Given the description of an element on the screen output the (x, y) to click on. 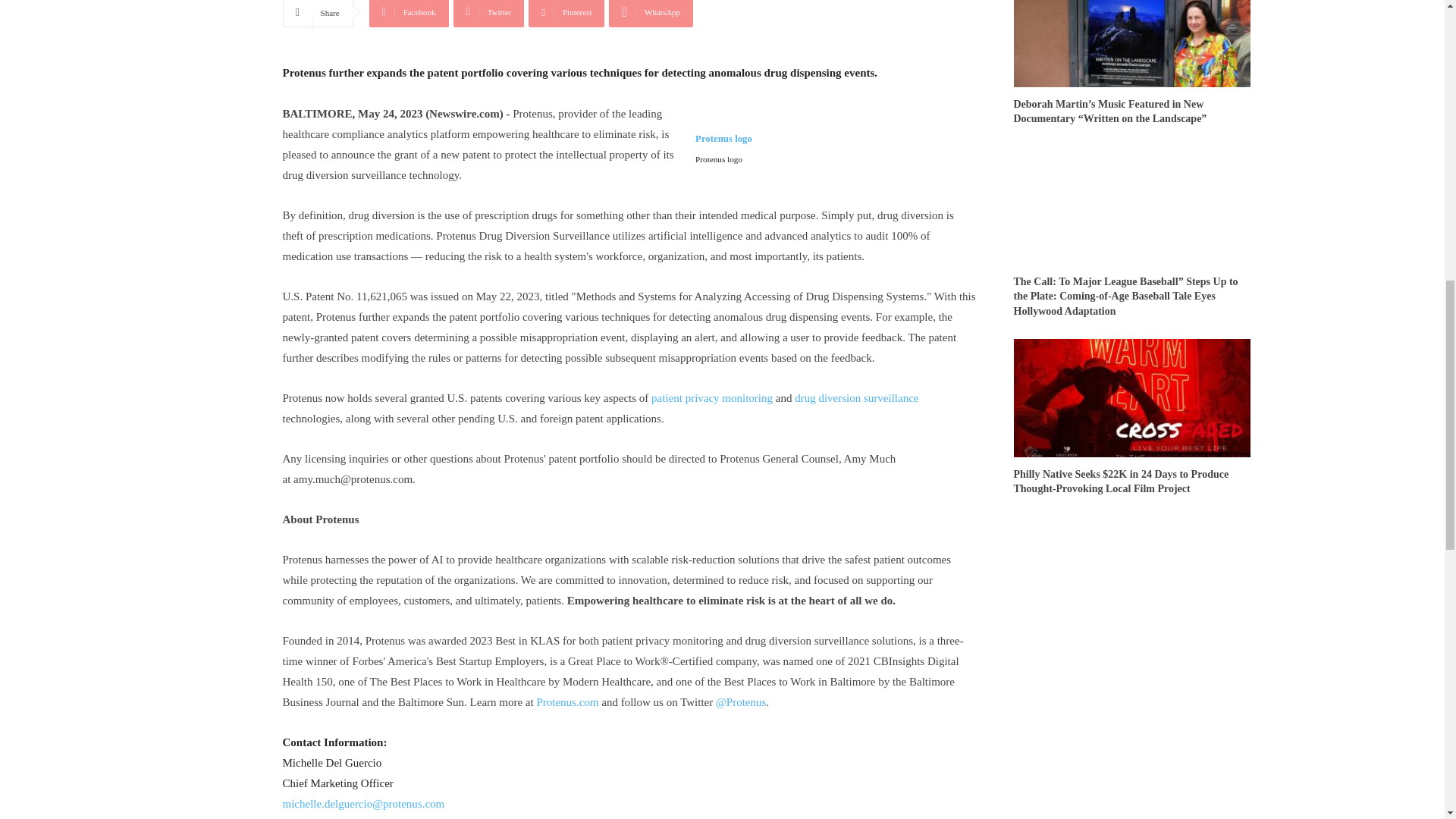
drug diversion surveillance (856, 398)
Protenus.com (566, 702)
patient privacy monitoring (711, 398)
Twitter (488, 13)
Pinterest (566, 13)
Protenus logo (723, 147)
Pinterest (566, 13)
Facebook (408, 13)
Facebook (408, 13)
WhatsApp (650, 13)
Twitter (488, 13)
WhatsApp (650, 13)
